Given the description of an element on the screen output the (x, y) to click on. 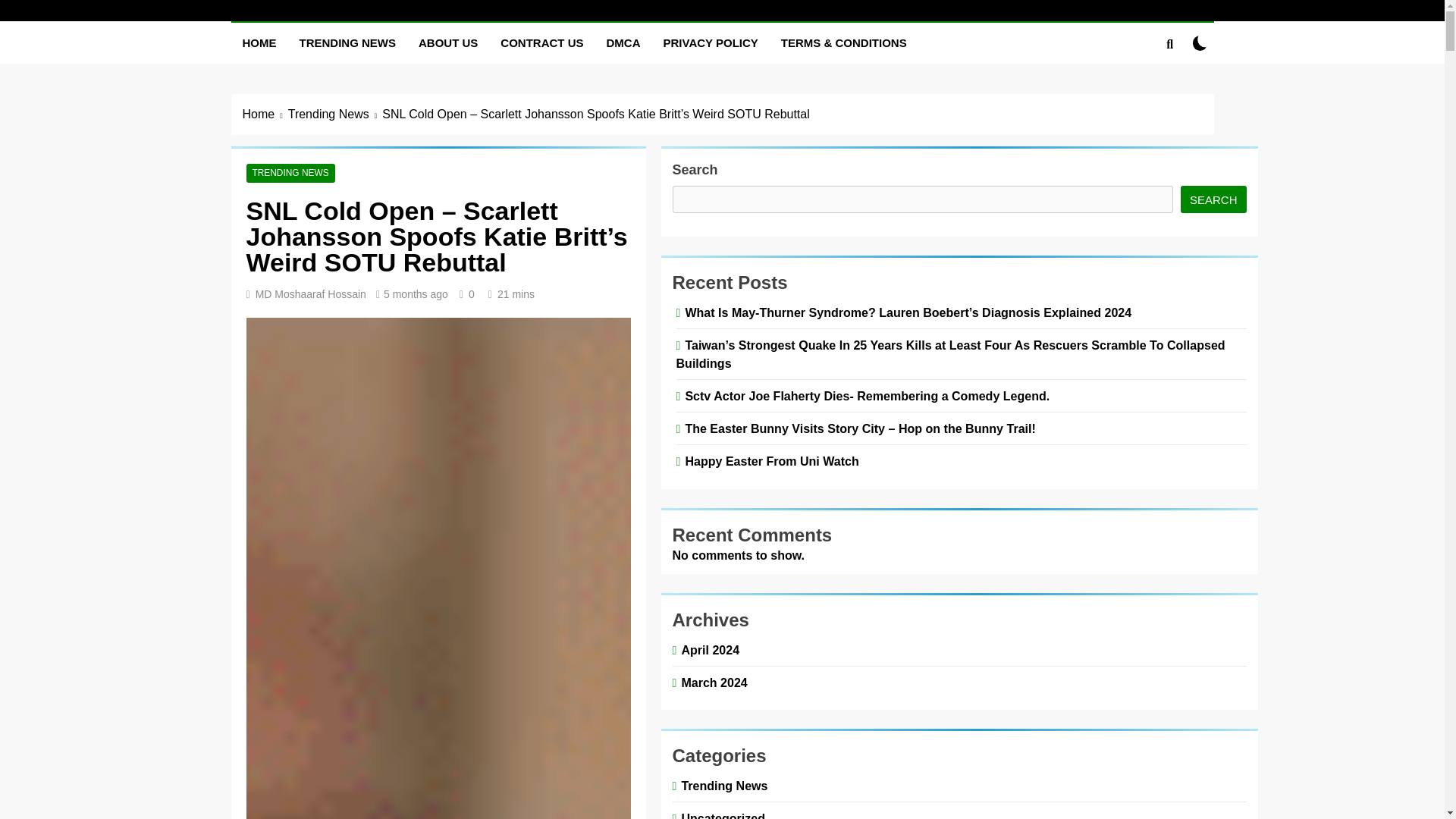
ABOUT US (448, 42)
DMCA (623, 42)
MD Moshaaraf Hossain (311, 294)
Home (265, 114)
Newsoxa.Com Is A Professional News Platform (576, 26)
on (1199, 42)
TRENDING NEWS (347, 42)
5 months ago (416, 294)
PRIVACY POLICY (711, 42)
Trending News (335, 114)
TRENDING NEWS (290, 172)
CONTRACT US (541, 42)
HOME (258, 42)
